Given the description of an element on the screen output the (x, y) to click on. 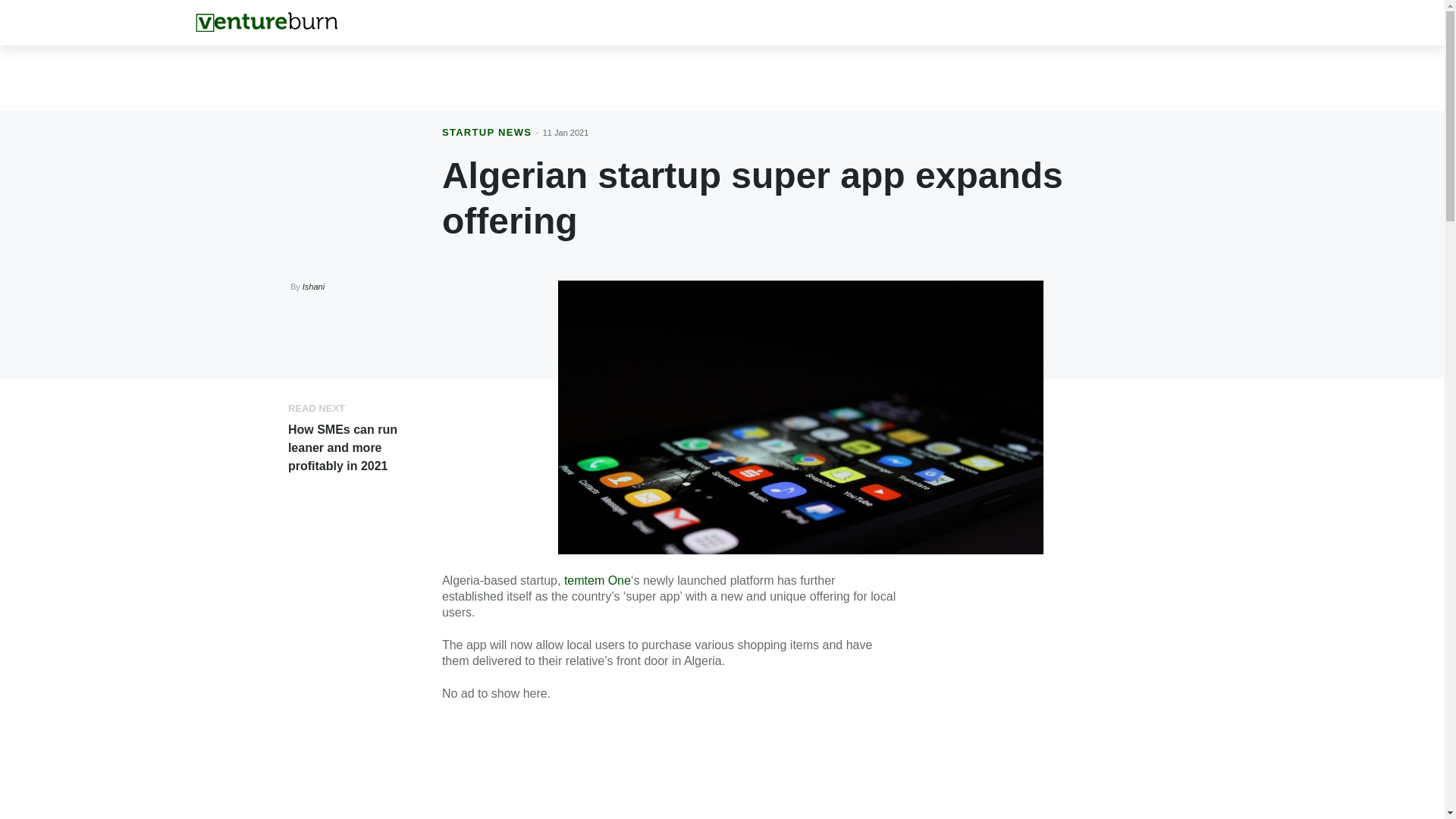
11 Jan 2021 (566, 132)
Ishani (313, 286)
Home (266, 21)
STARTUP NEWS (486, 132)
 temtem One (595, 580)
How SMEs can run leaner and more profitably in 2021 (342, 447)
